Given the description of an element on the screen output the (x, y) to click on. 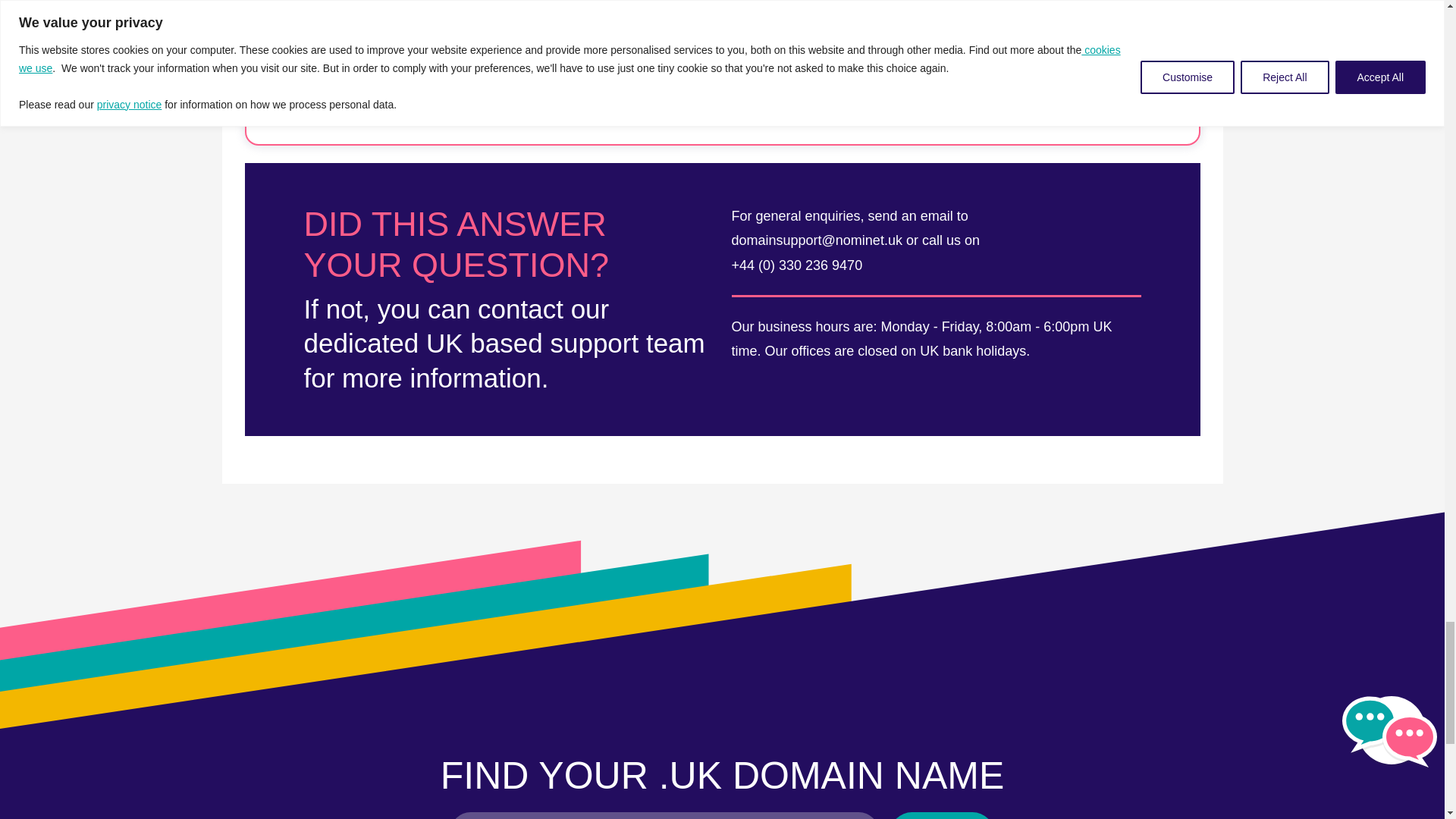
Search (941, 815)
